Given the description of an element on the screen output the (x, y) to click on. 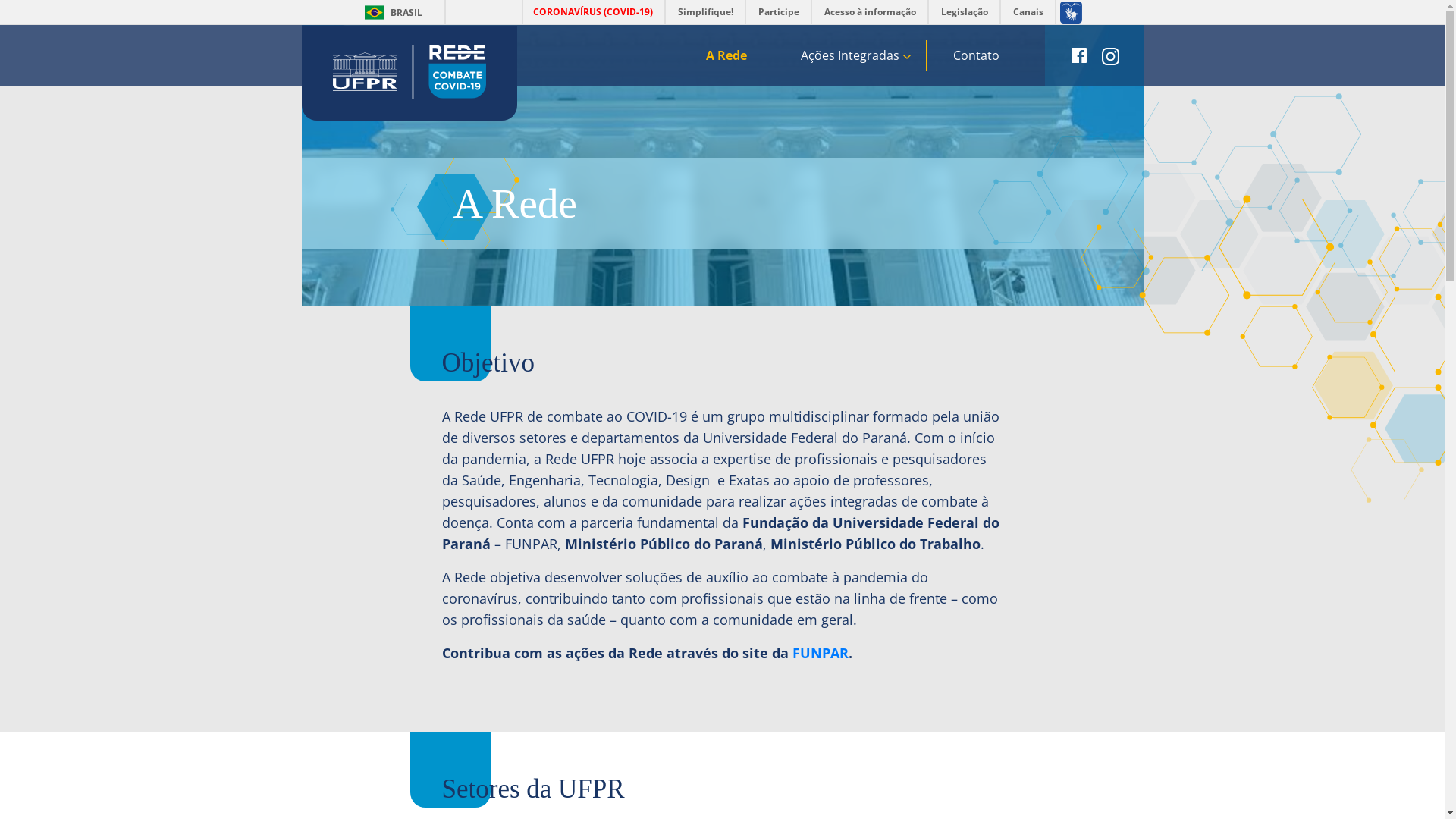
BRASIL Element type: text (373, 12)
Contato Element type: text (975, 55)
FUNPAR Element type: text (818, 652)
A Rede Element type: text (726, 55)
Logo da UFPR em Combate ao Covid-19 Element type: hover (408, 71)
